Given the description of an element on the screen output the (x, y) to click on. 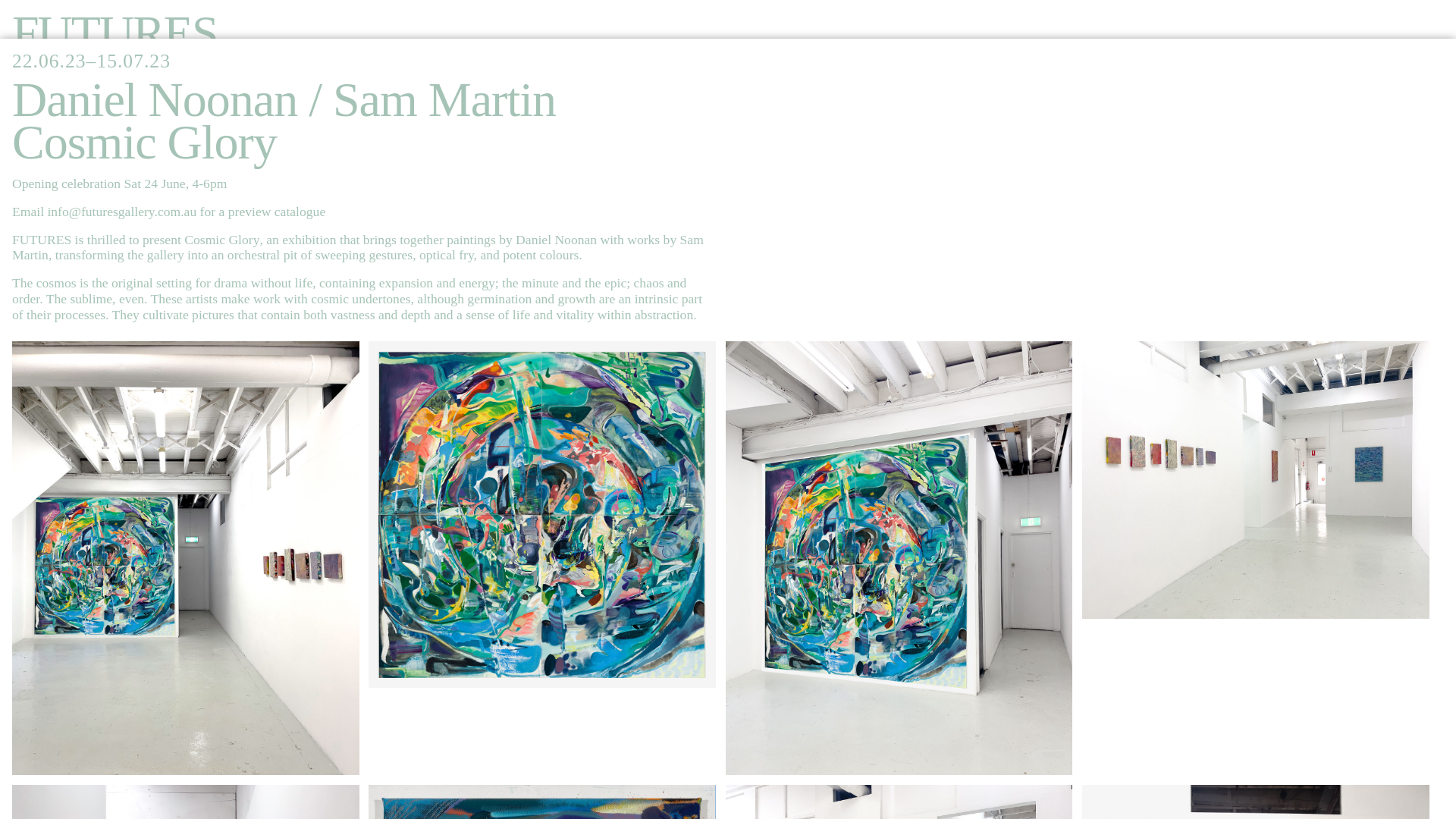
Artists (73, 160)
News (65, 244)
Subscribe to our mailing list (178, 552)
About (70, 287)
Instagram (200, 584)
Facebook (69, 584)
Exhibitions (119, 117)
Art Fairs (95, 203)
